Given the description of an element on the screen output the (x, y) to click on. 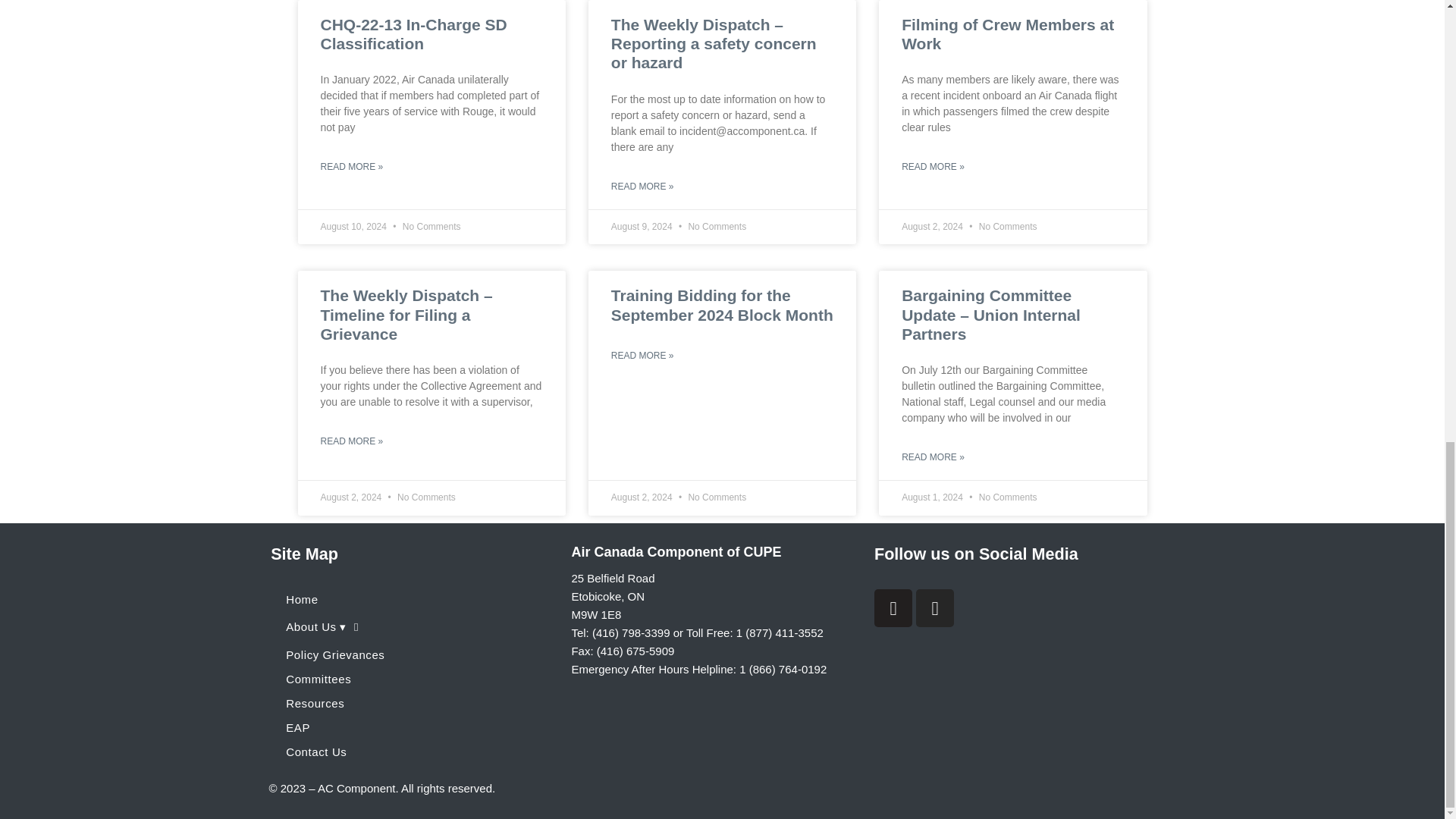
Policy Grievances (413, 654)
Training Bidding for the September 2024 Block Month (721, 304)
Home (413, 599)
CHQ-22-13 In-Charge SD Classification (413, 33)
Committees (413, 679)
Filming of Crew Members at Work (1007, 33)
